Given the description of an element on the screen output the (x, y) to click on. 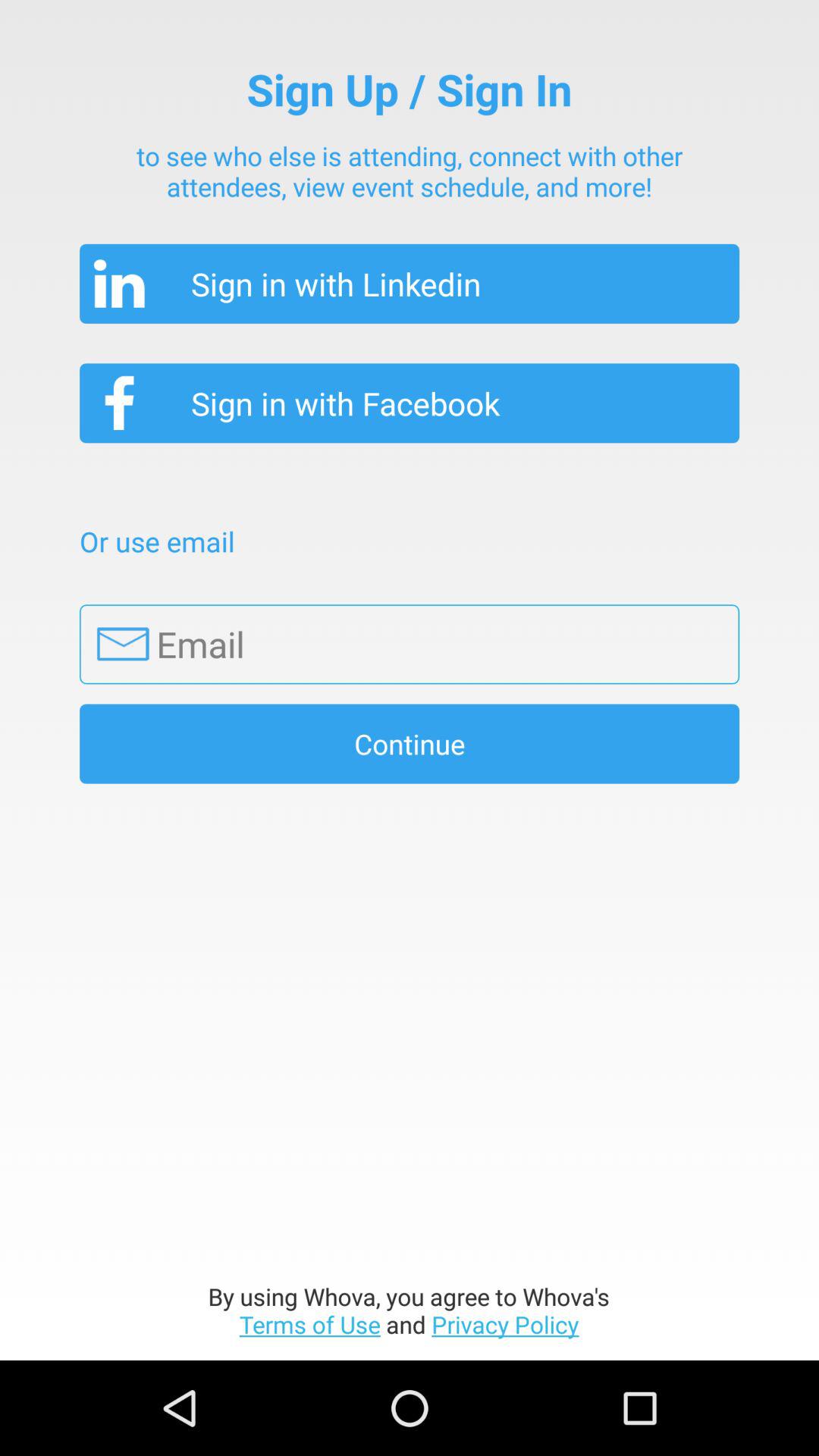
choose by using whova item (408, 1310)
